Given the description of an element on the screen output the (x, y) to click on. 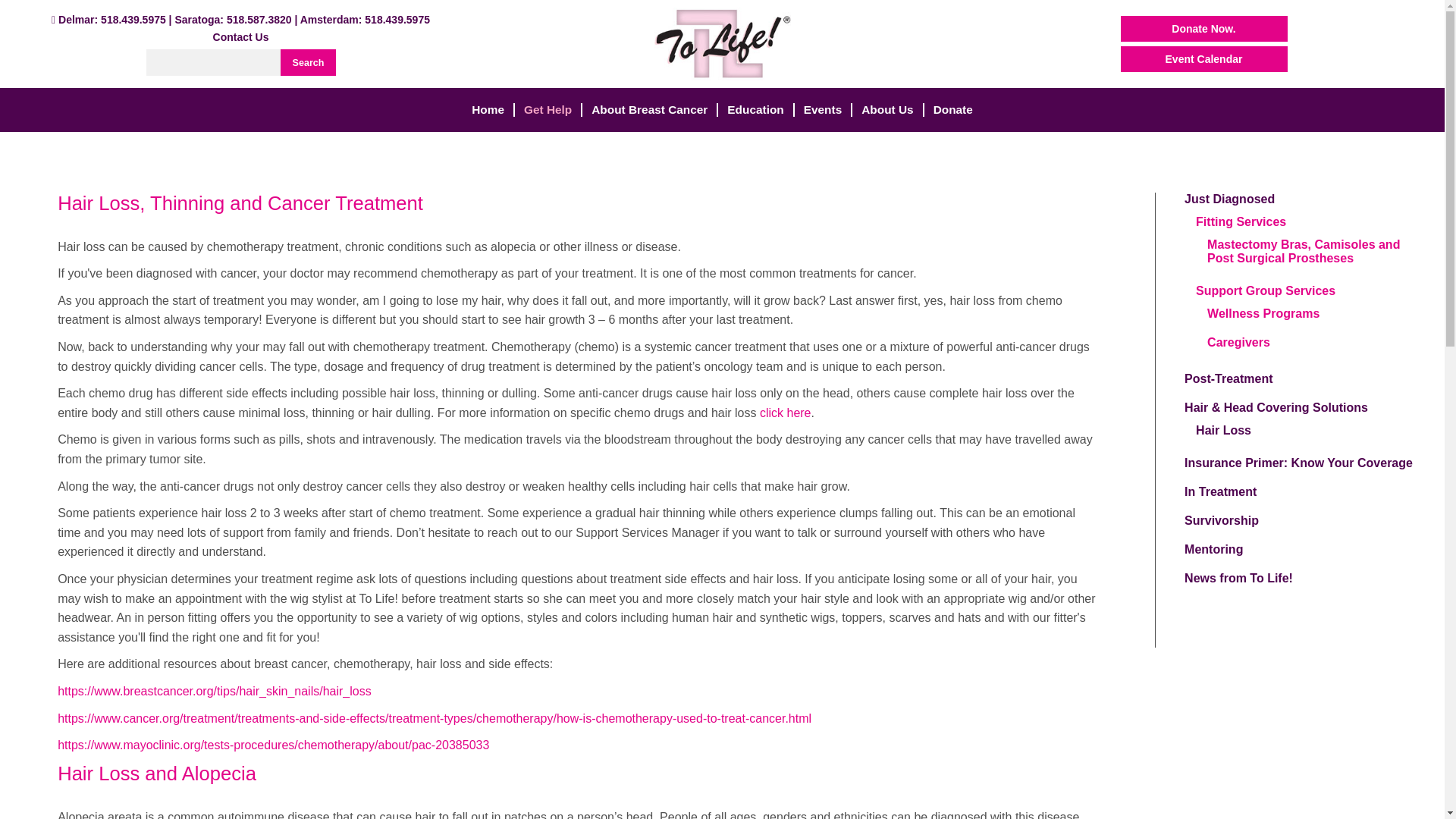
Search (307, 62)
Search (307, 62)
Home (487, 110)
518.439.5975 (397, 19)
Get Help (548, 110)
Event Calendar (1204, 58)
Donate Now. (1204, 28)
518.439.5975 (132, 19)
Contact Us (240, 37)
Search (307, 62)
